Given the description of an element on the screen output the (x, y) to click on. 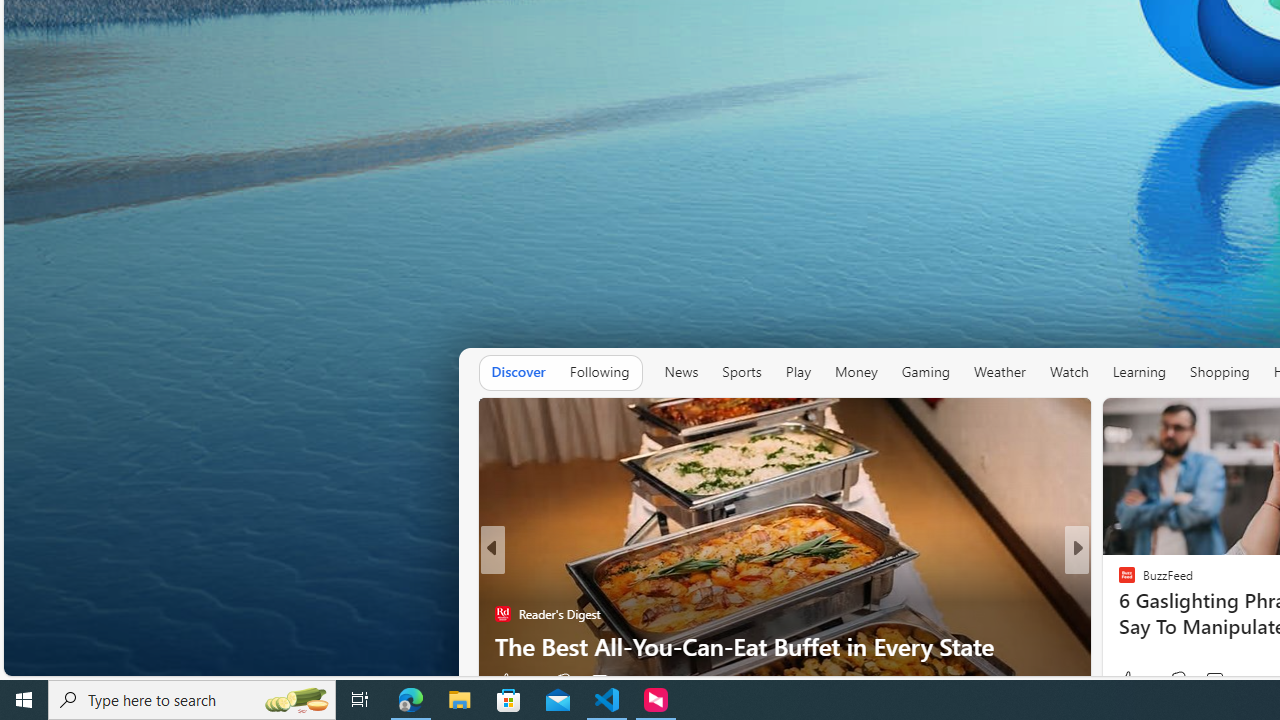
Shopping (1219, 371)
Search highlights icon opens search home window (295, 699)
